Given the description of an element on the screen output the (x, y) to click on. 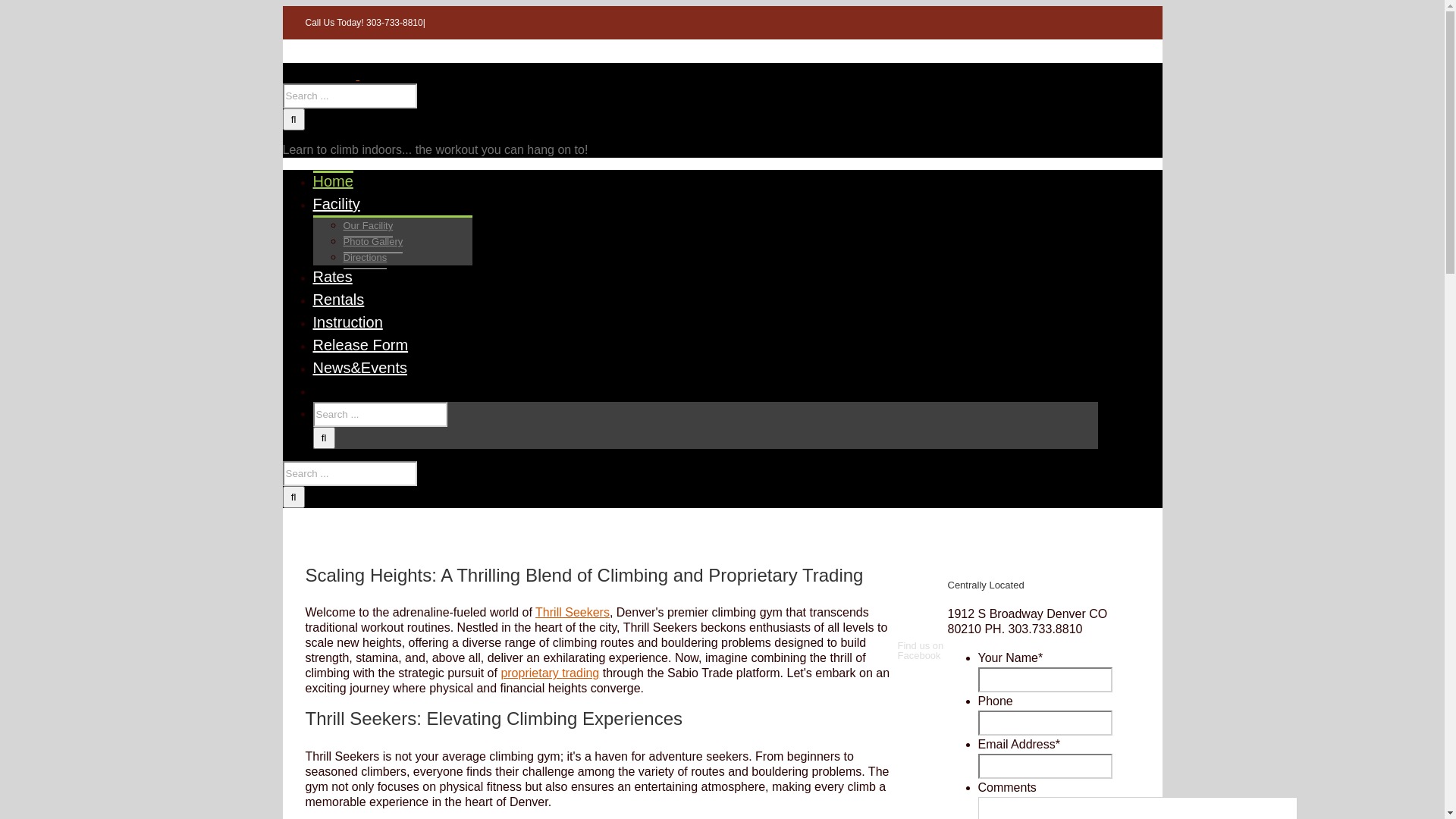
Directions Element type: text (364, 257)
Thrill Seekers Element type: text (572, 611)
News&Events Element type: text (359, 366)
Release Form Element type: text (359, 343)
Photo Gallery Element type: text (372, 241)
proprietary trading Element type: text (549, 672)
Our Facility Element type: text (367, 225)
Rates Element type: text (331, 275)
Home Element type: text (332, 179)
Instruction Element type: text (347, 320)
Rentals Element type: text (338, 297)
Facility Element type: text (335, 202)
